Given the description of an element on the screen output the (x, y) to click on. 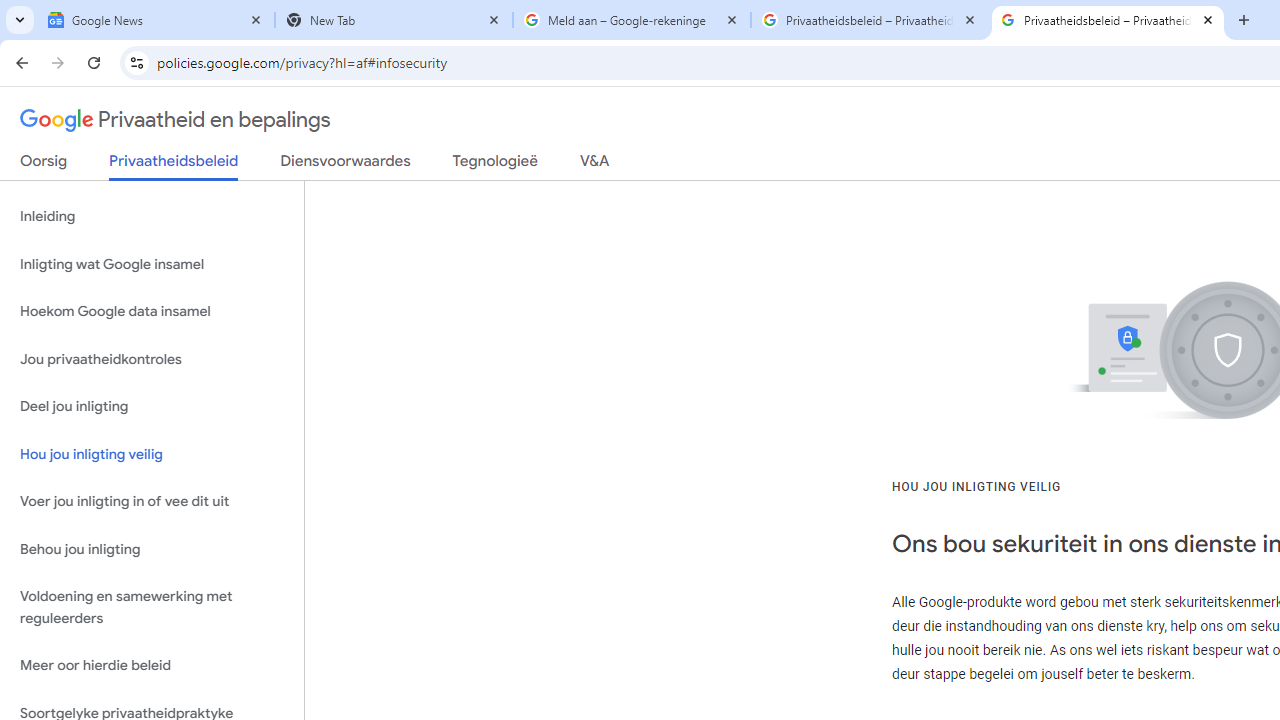
Oorsig (43, 165)
Voldoening en samewerking met reguleerders (152, 607)
Privaatheid en bepalings (175, 120)
Google News (156, 20)
Inligting wat Google insamel (152, 263)
Hou jou inligting veilig (152, 453)
Behou jou inligting (152, 548)
Voer jou inligting in of vee dit uit (152, 502)
